Given the description of an element on the screen output the (x, y) to click on. 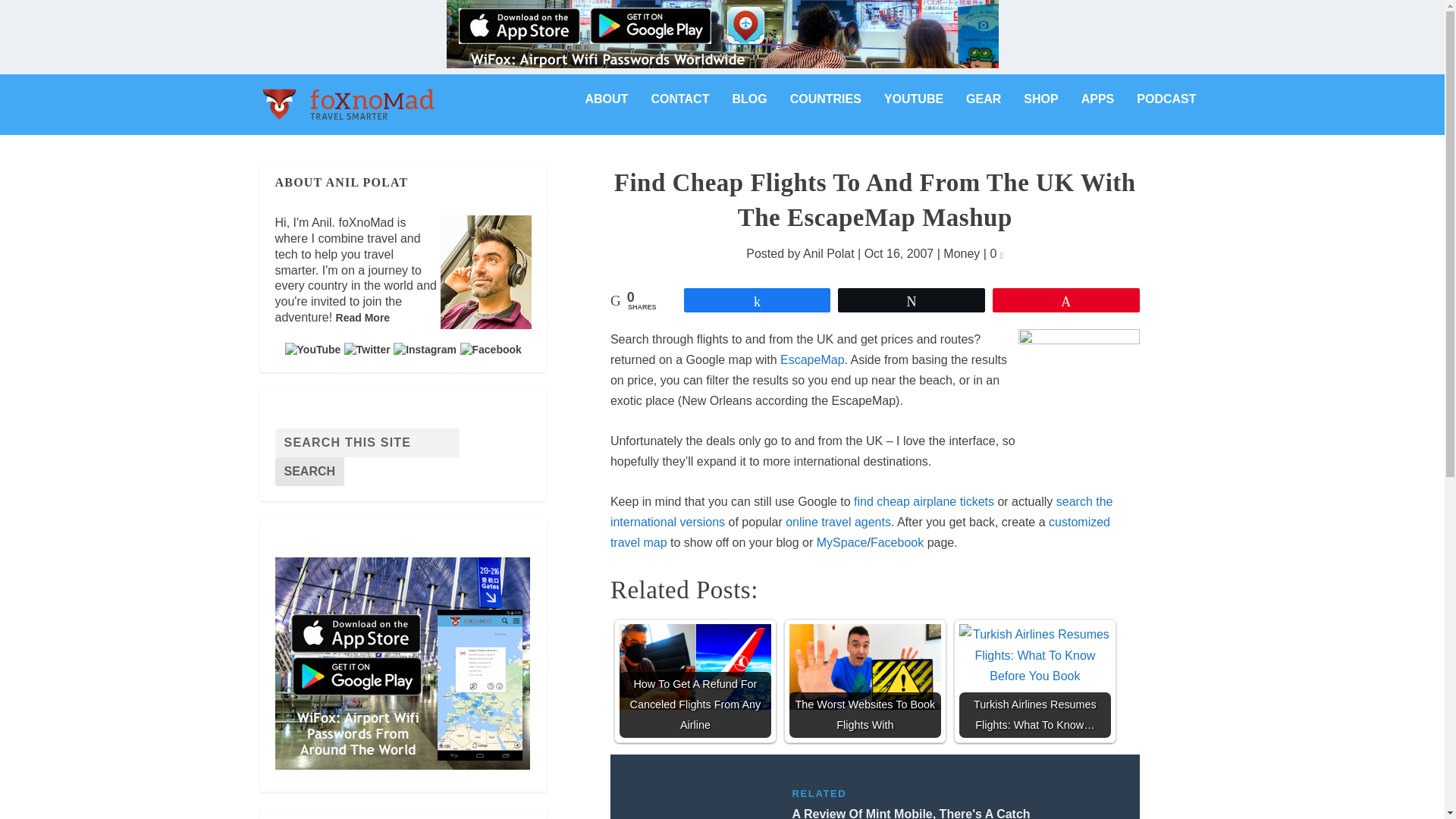
search the international versions (861, 511)
SHOP (1040, 111)
COUNTRIES (825, 111)
customized travel map (859, 531)
PODCAST (1166, 111)
Twitter (366, 349)
online (802, 521)
ABOUT (606, 111)
Anil Polat (828, 253)
The Worst Websites To Book Flights With (864, 667)
travel agents (856, 521)
Search (310, 471)
Search (310, 471)
Money (961, 253)
Facebook (490, 349)
